Given the description of an element on the screen output the (x, y) to click on. 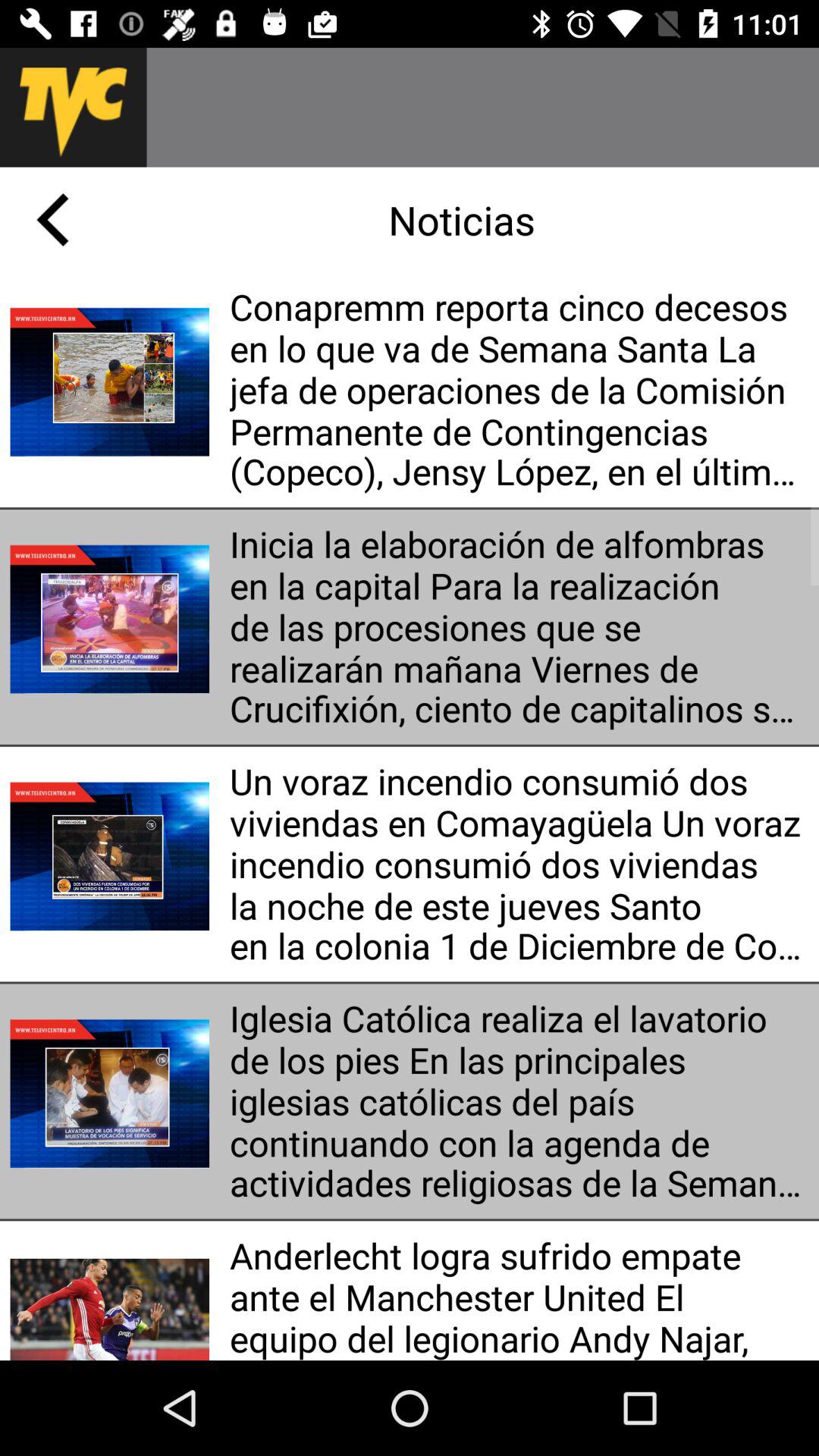
choose the item below the noticias (518, 389)
